Given the description of an element on the screen output the (x, y) to click on. 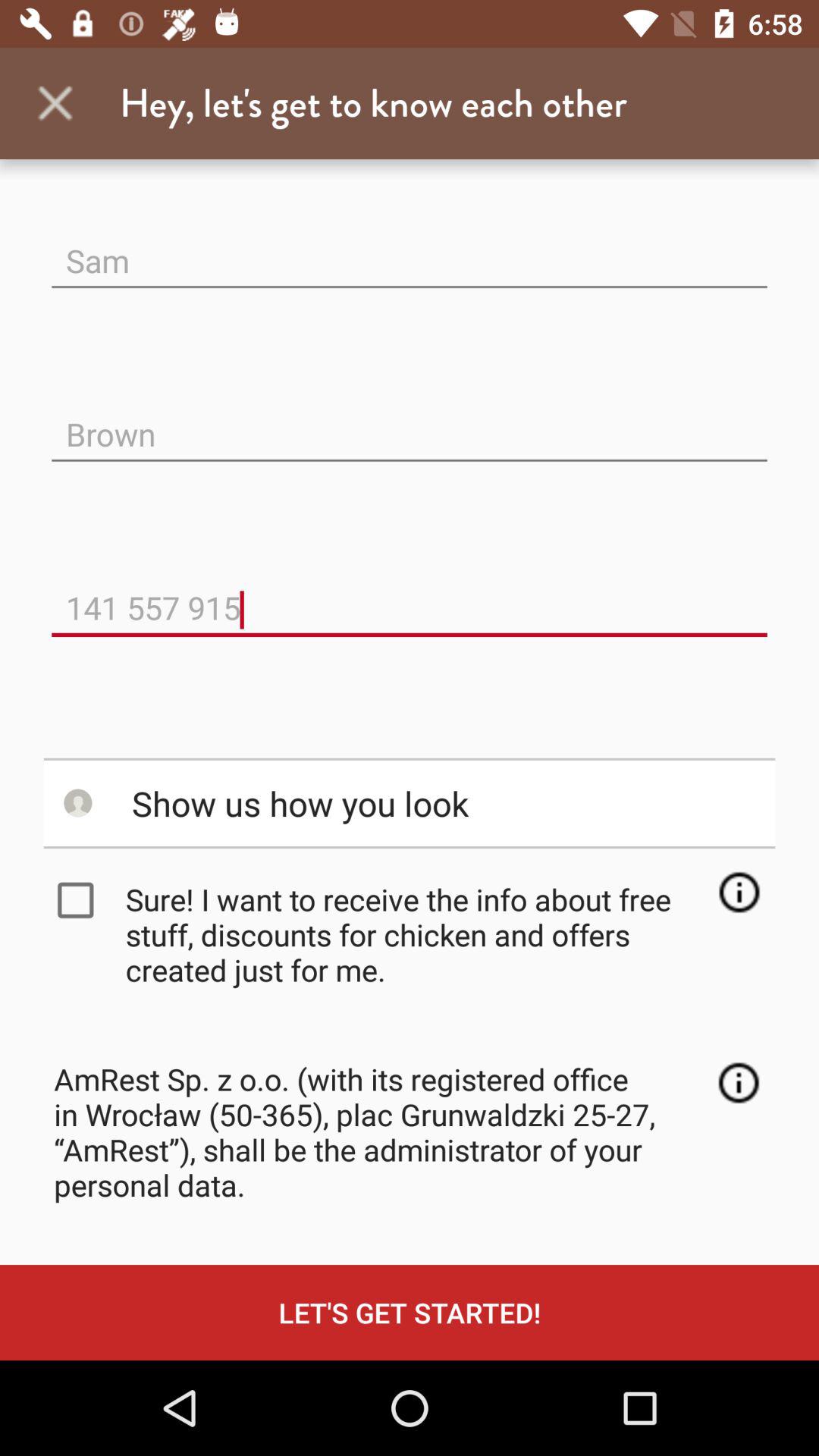
information (738, 1082)
